Given the description of an element on the screen output the (x, y) to click on. 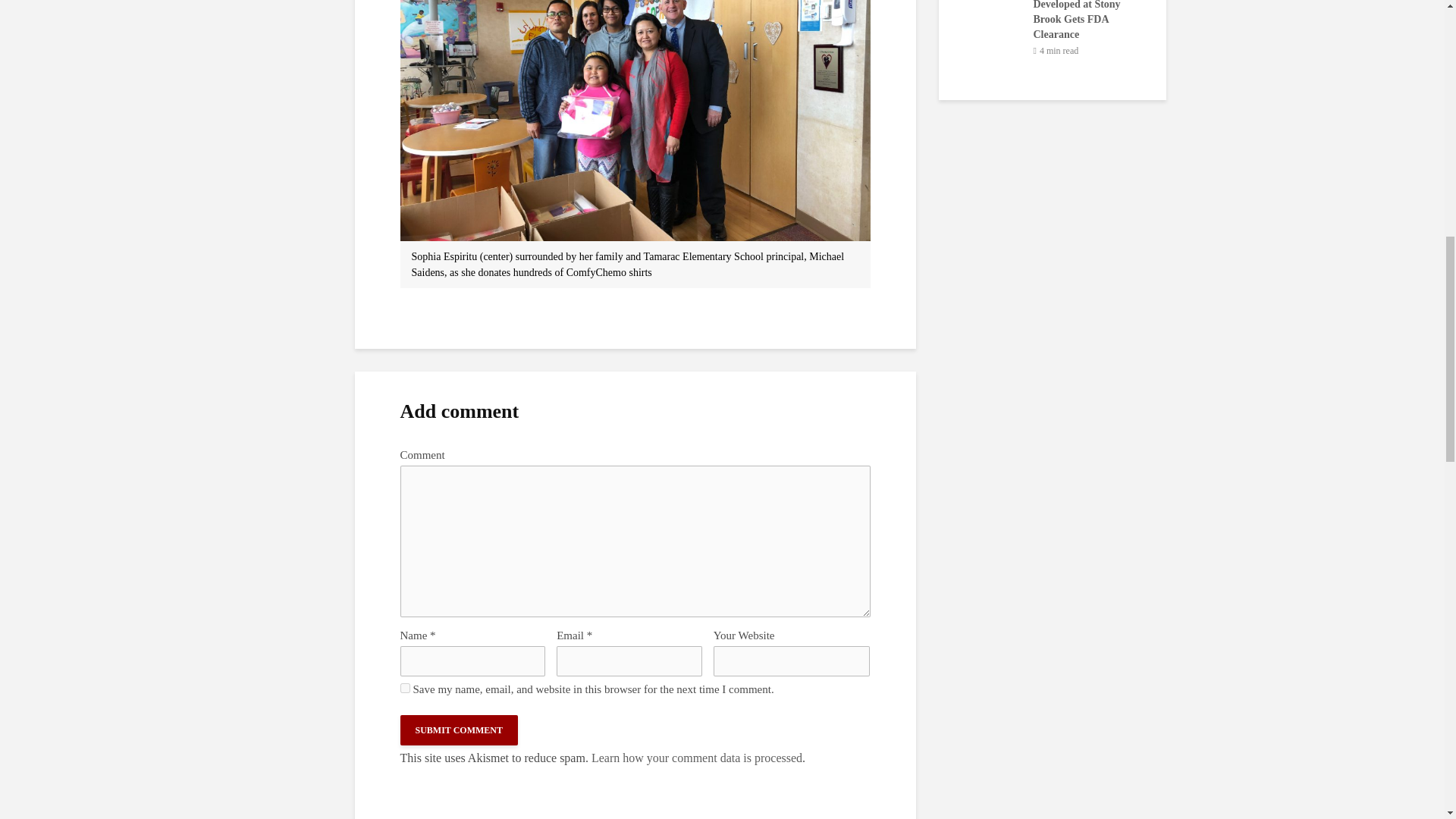
Img 7193 (635, 120)
yes (405, 687)
Submit Comment (459, 729)
